Given the description of an element on the screen output the (x, y) to click on. 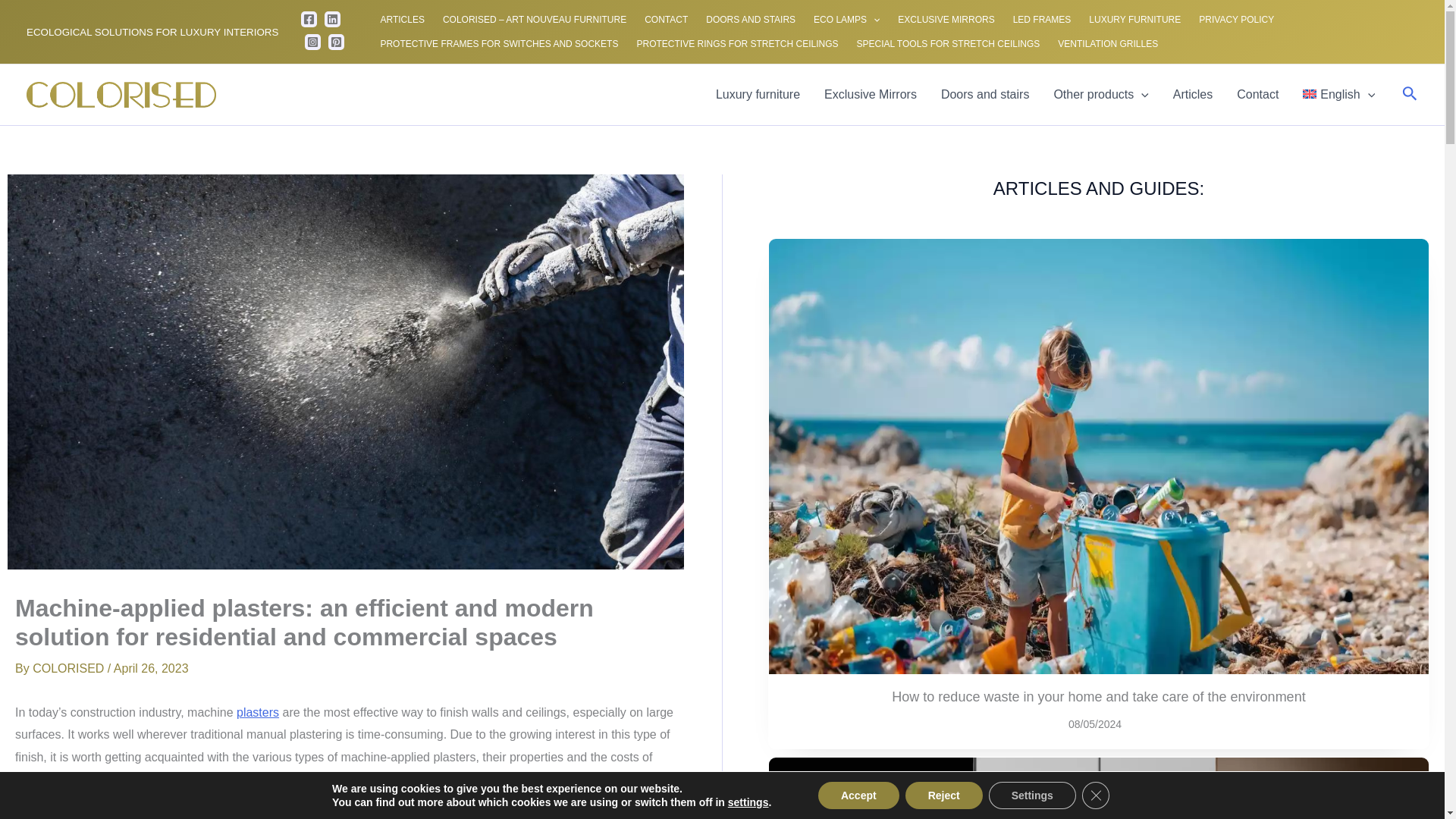
PROTECTIVE RINGS FOR STRETCH CEILINGS (737, 43)
Doors and stairs (985, 94)
Other products (1100, 94)
VENTILATION GRILLES (1107, 43)
English (1338, 94)
ECO LAMPS (846, 19)
LED FRAMES (1042, 19)
View all posts by COLORISED (69, 667)
SPECIAL TOOLS FOR STRETCH CEILINGS (948, 43)
CONTACT (665, 19)
ARTICLES (401, 19)
Luxury furniture (757, 94)
DOORS AND STAIRS (751, 19)
PROTECTIVE FRAMES FOR SWITCHES AND SOCKETS (499, 43)
Exclusive Mirrors (870, 94)
